Given the description of an element on the screen output the (x, y) to click on. 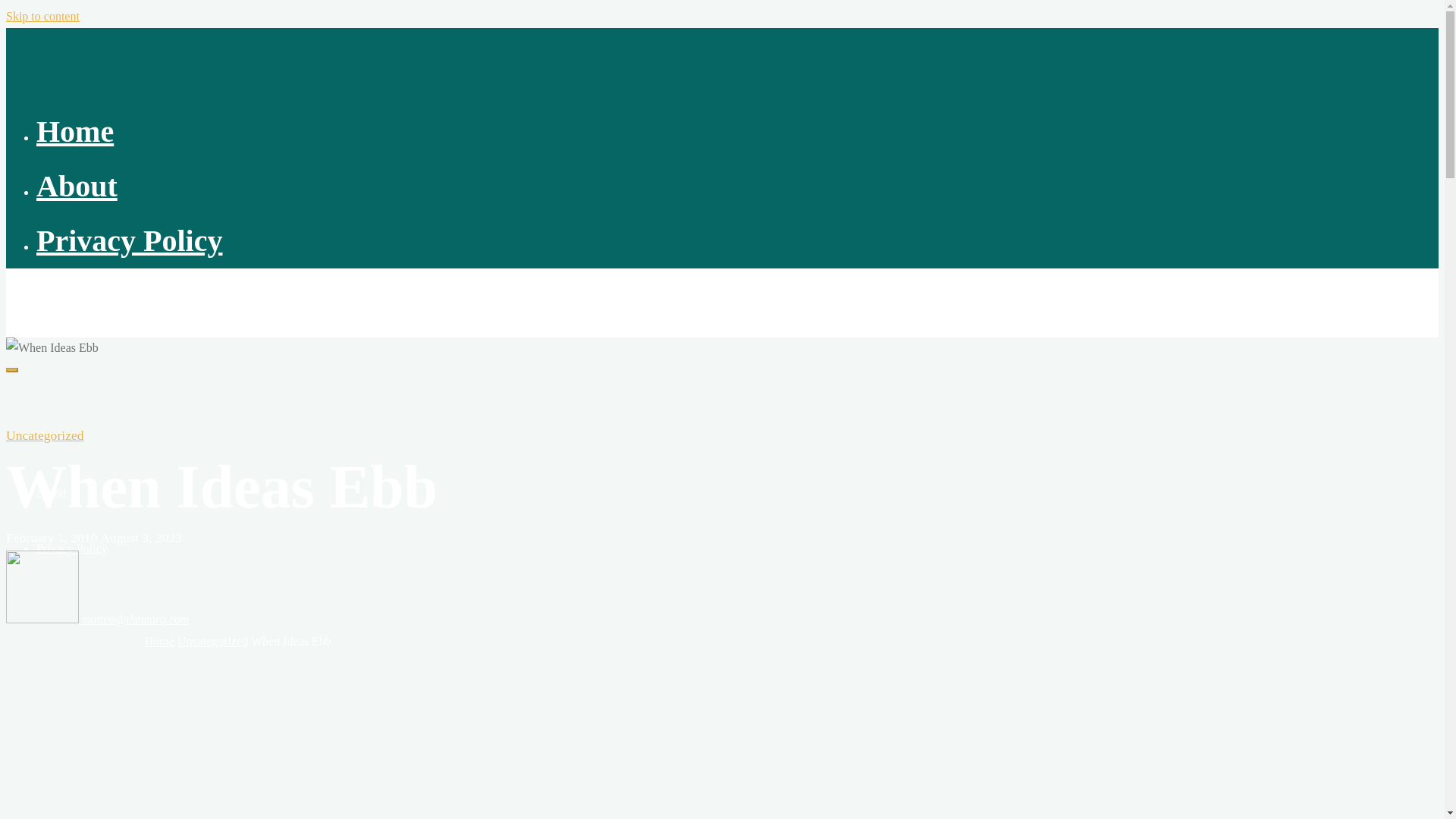
Uncategorized (212, 640)
Privacy Policy (129, 240)
About (51, 491)
Home (74, 131)
Home (159, 640)
Privacy Policy (71, 548)
TheMarq.com (53, 294)
Home (50, 434)
Uncategorized (44, 435)
Uncomplicating Business and Life (53, 294)
About (76, 185)
Skip to content (42, 15)
Skip to content (42, 15)
Home (159, 640)
